Given the description of an element on the screen output the (x, y) to click on. 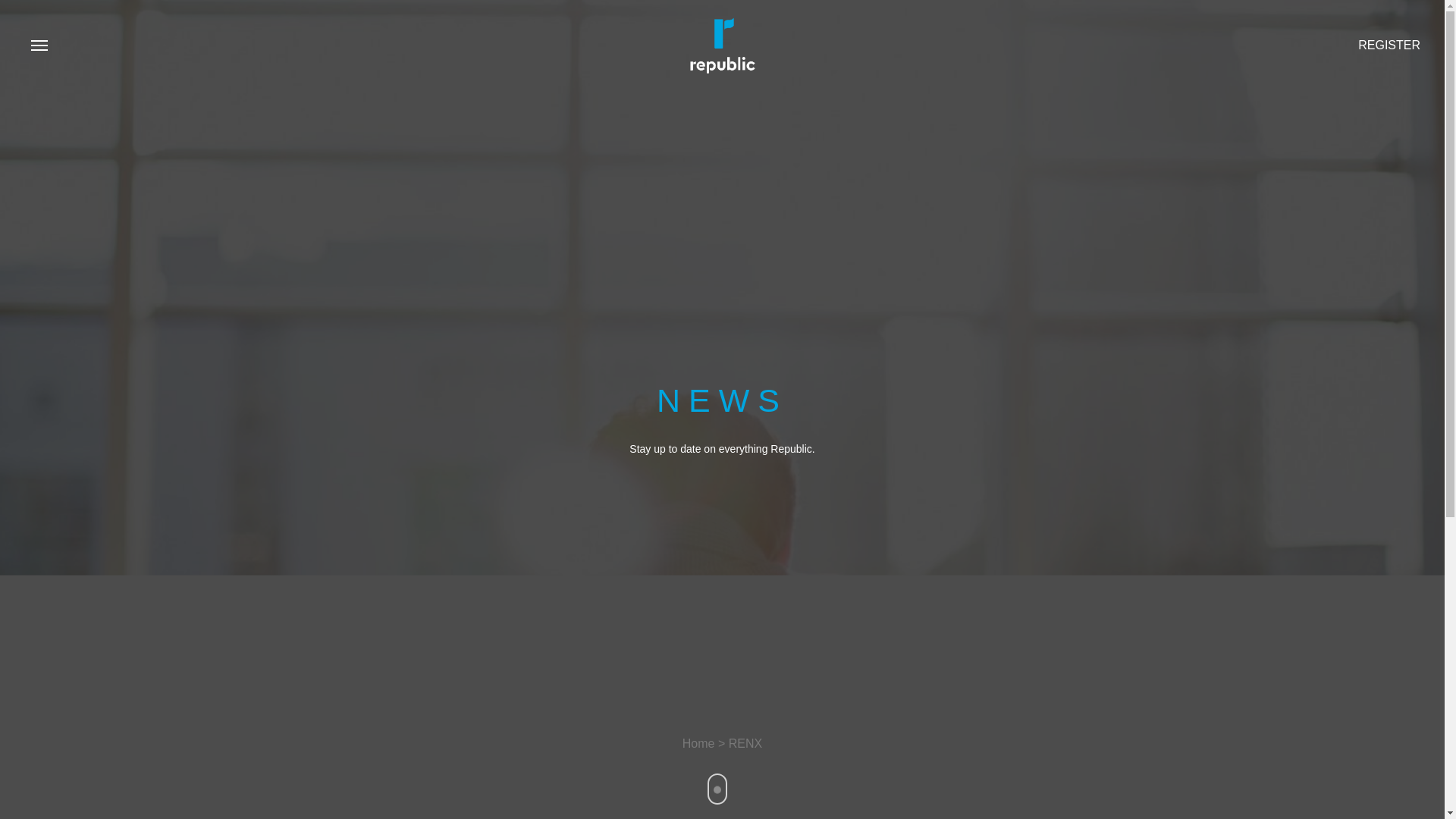
RENX (745, 743)
Home (698, 743)
REGISTER (1389, 44)
